Given the description of an element on the screen output the (x, y) to click on. 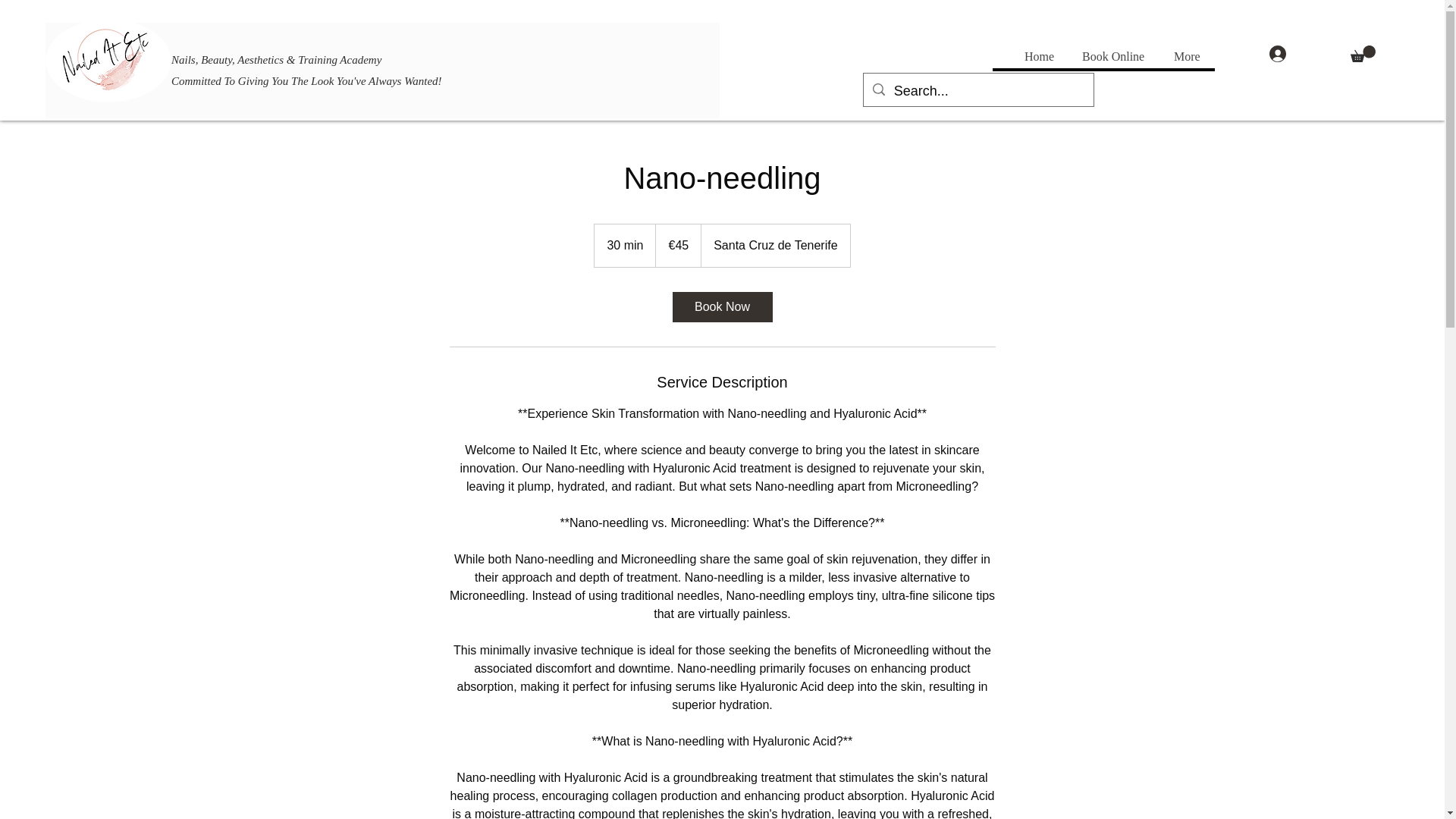
Home (1040, 56)
Book Now (721, 306)
Book Online (1115, 56)
Log In (1297, 53)
